Given the description of an element on the screen output the (x, y) to click on. 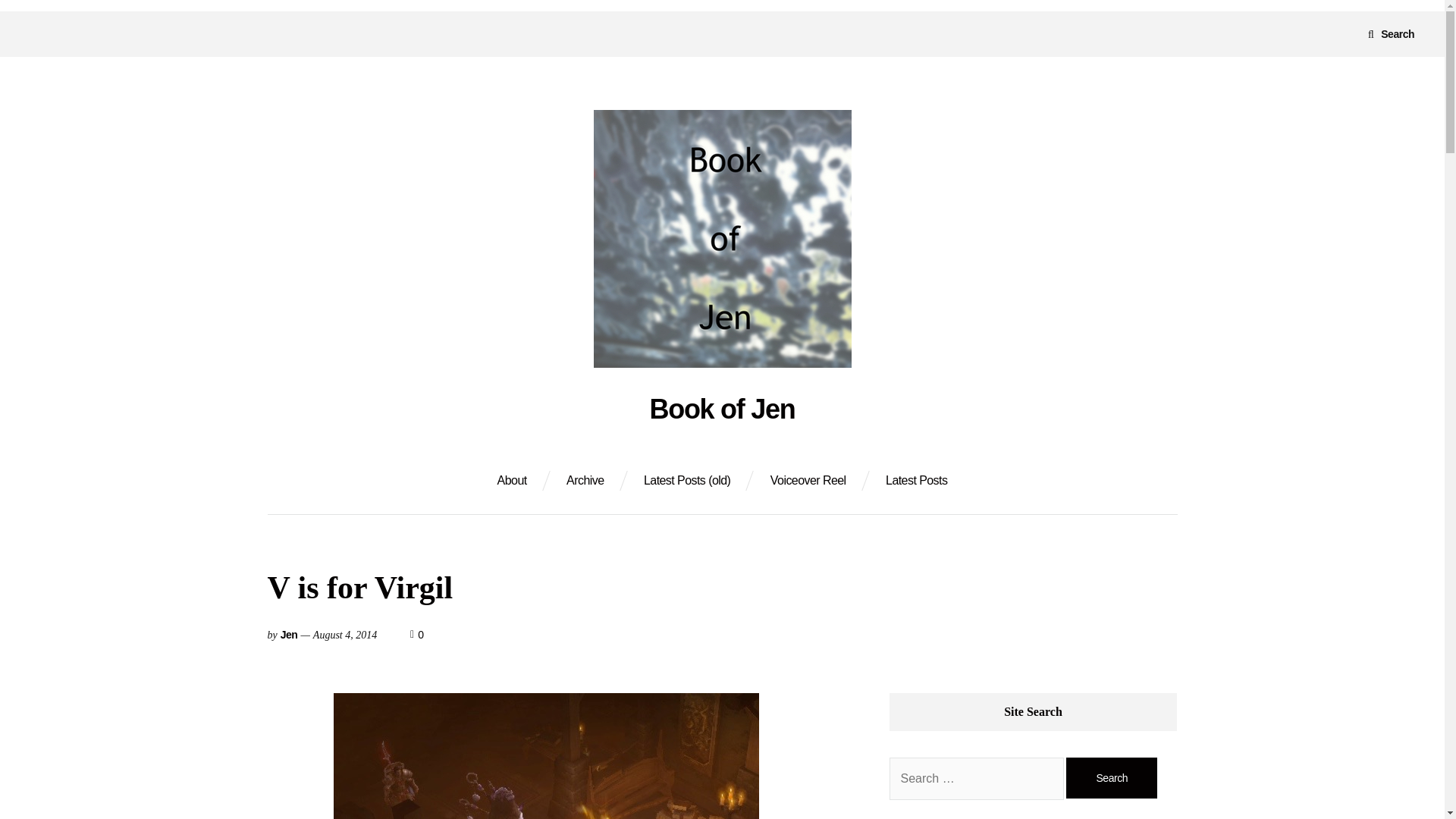
Jen (289, 634)
Search (1390, 33)
Skip to content (420, 634)
Book of Jen (1111, 777)
About (721, 409)
Search (512, 480)
Voiceover Reel (1111, 777)
Search (807, 480)
Archive (1111, 777)
Latest Posts (585, 480)
